Given the description of an element on the screen output the (x, y) to click on. 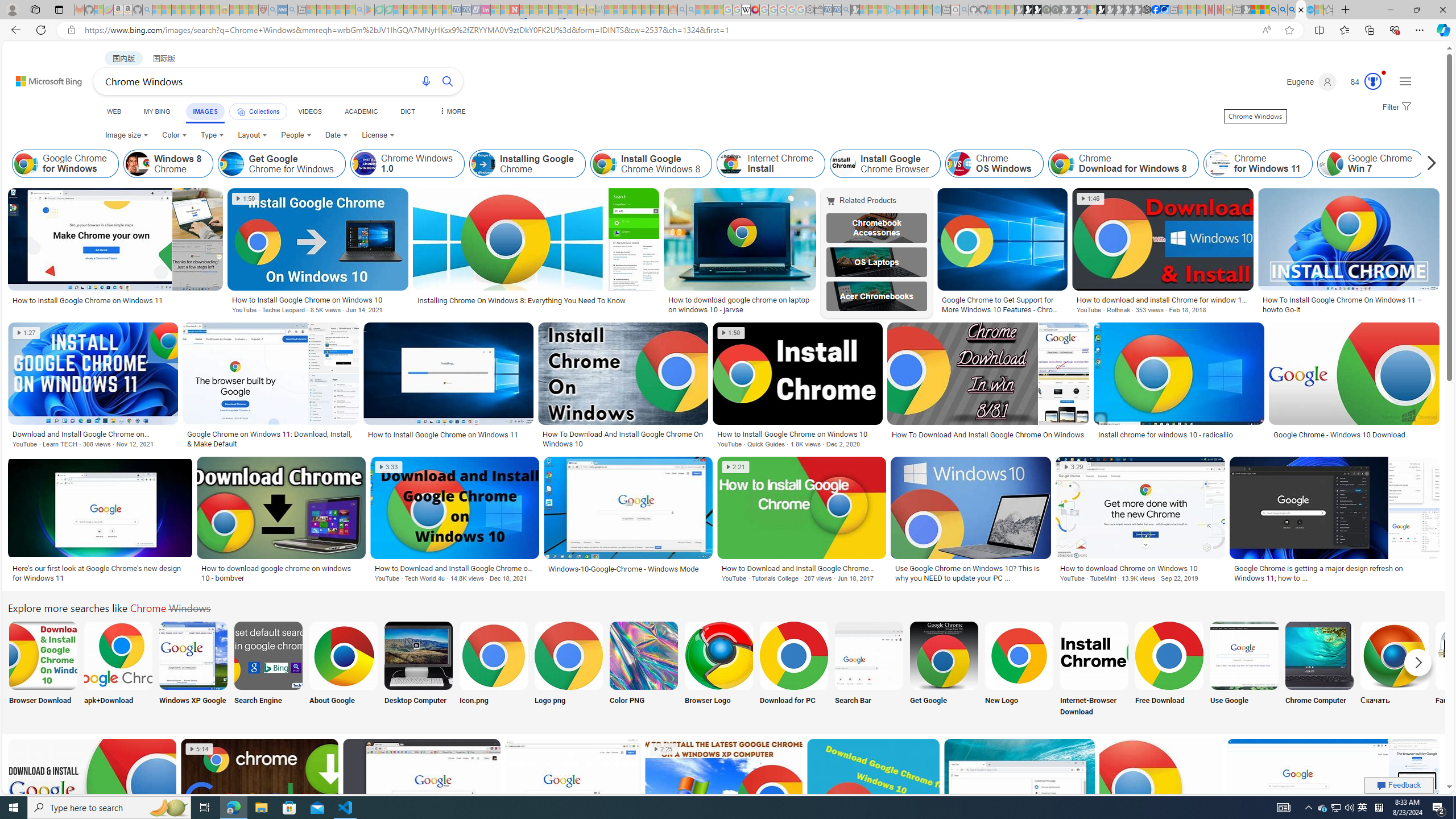
Scroll more suggestions right (1418, 662)
Microsoft Start Gaming - Sleeping (854, 9)
ACADEMIC (360, 111)
Chrome OS Windows (994, 163)
Chrome Download for PC (794, 654)
How to Install Google Chrome on Windows 11 (443, 434)
Jobs - lastminute.com Investor Portal - Sleeping (485, 9)
Google Chrome for Windows (25, 163)
Install Google Chrome Windows 8 (650, 163)
Type (212, 135)
Chrome Computer Chrome Computer (1319, 669)
2:25 (662, 748)
How to Install Google Chrome on Windows 10 (797, 433)
